Given the description of an element on the screen output the (x, y) to click on. 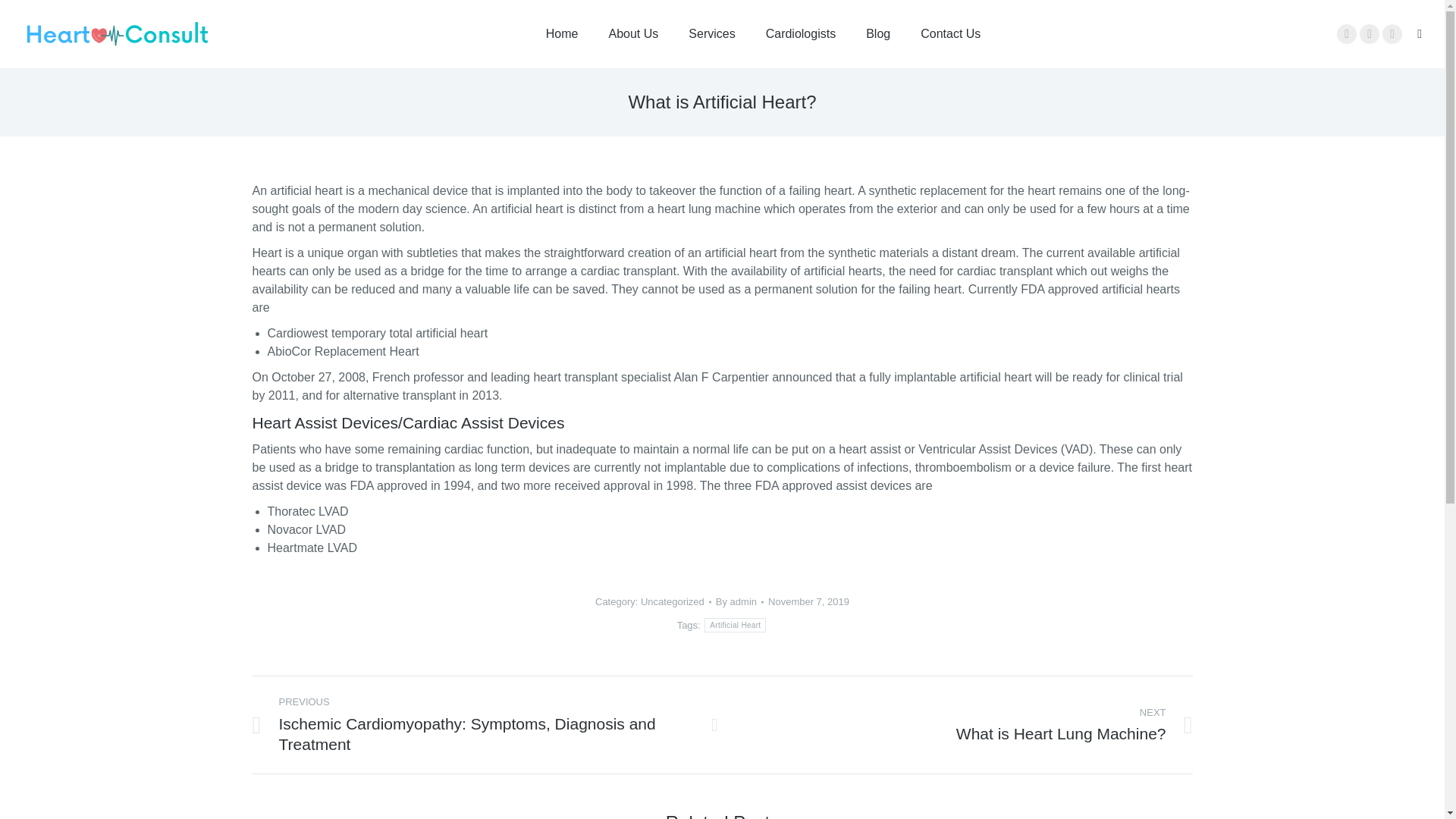
Linkedin page opens in new window (1391, 34)
By admin (739, 602)
Twitter page opens in new window (1368, 34)
View all posts by admin (739, 602)
Go! (24, 15)
Facebook page opens in new window (1346, 34)
Uncategorized (672, 601)
Contact Us (949, 33)
10:14 am (808, 602)
November 7, 2019 (808, 602)
Cardiologists (800, 33)
